Given the description of an element on the screen output the (x, y) to click on. 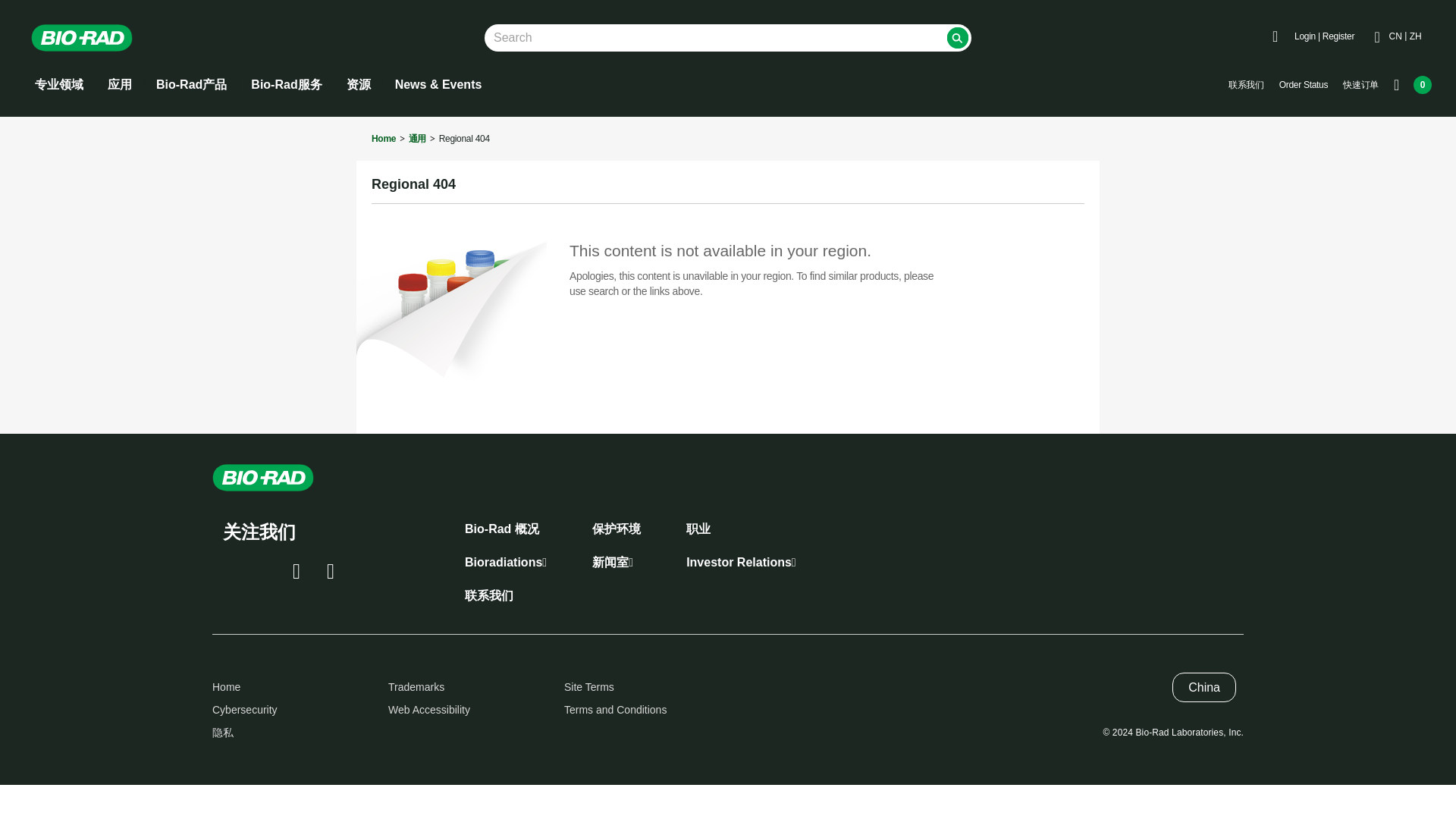
Order Status (1303, 84)
Bio-Rad (92, 37)
0 (1412, 84)
Search (957, 37)
Order Status (1303, 84)
Bio-Rad (81, 37)
Shopping Cart (1412, 84)
Search (957, 37)
